Given the description of an element on the screen output the (x, y) to click on. 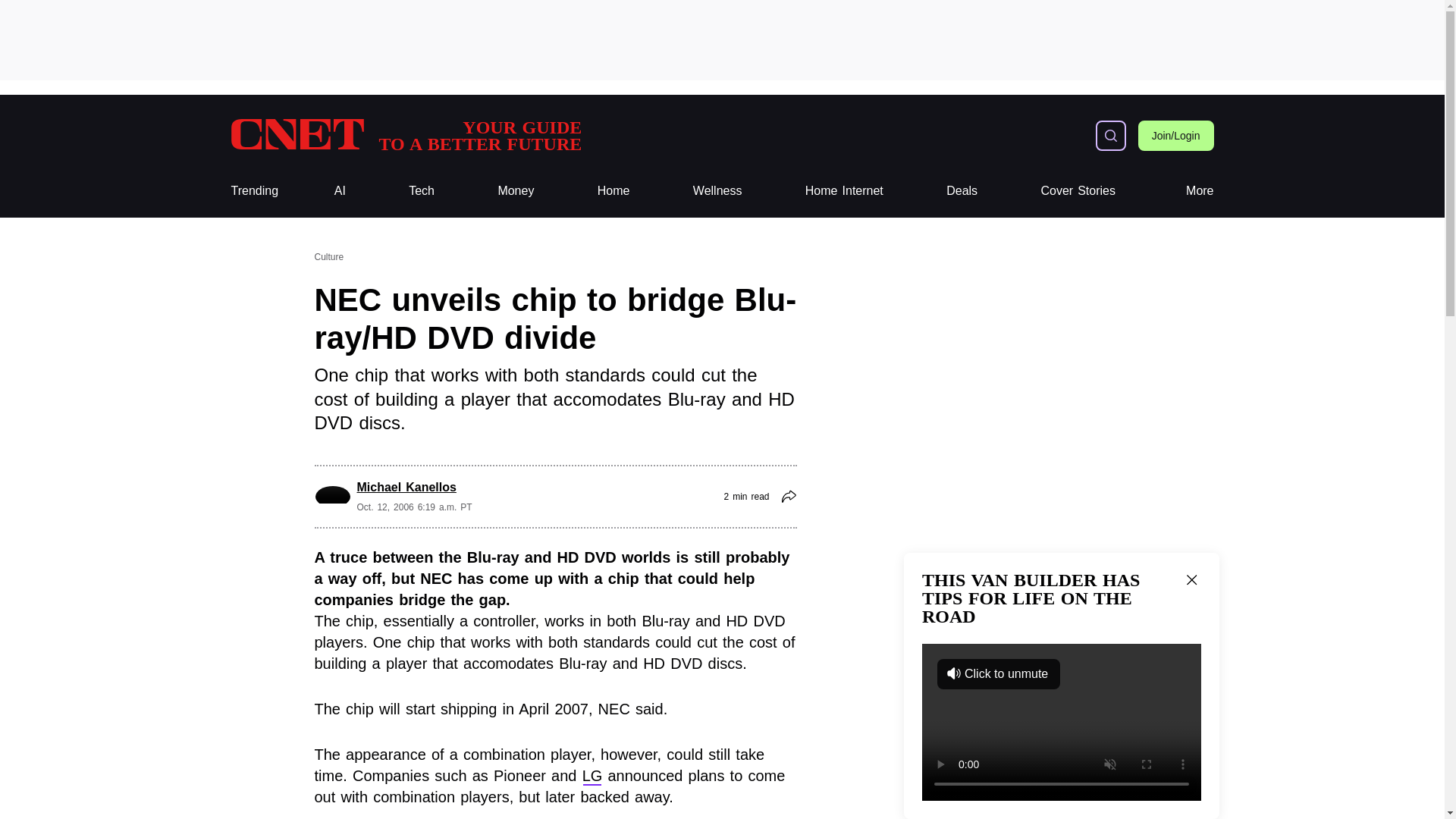
Home Internet (844, 190)
Home (613, 190)
Tech (421, 190)
Home Internet (844, 190)
Tech (421, 190)
Trending (254, 190)
Money (515, 190)
Trending (254, 190)
More (1199, 190)
Deals (405, 135)
Home (961, 190)
CNET (613, 190)
3rd party ad content (405, 135)
Wellness (721, 39)
